Given the description of an element on the screen output the (x, y) to click on. 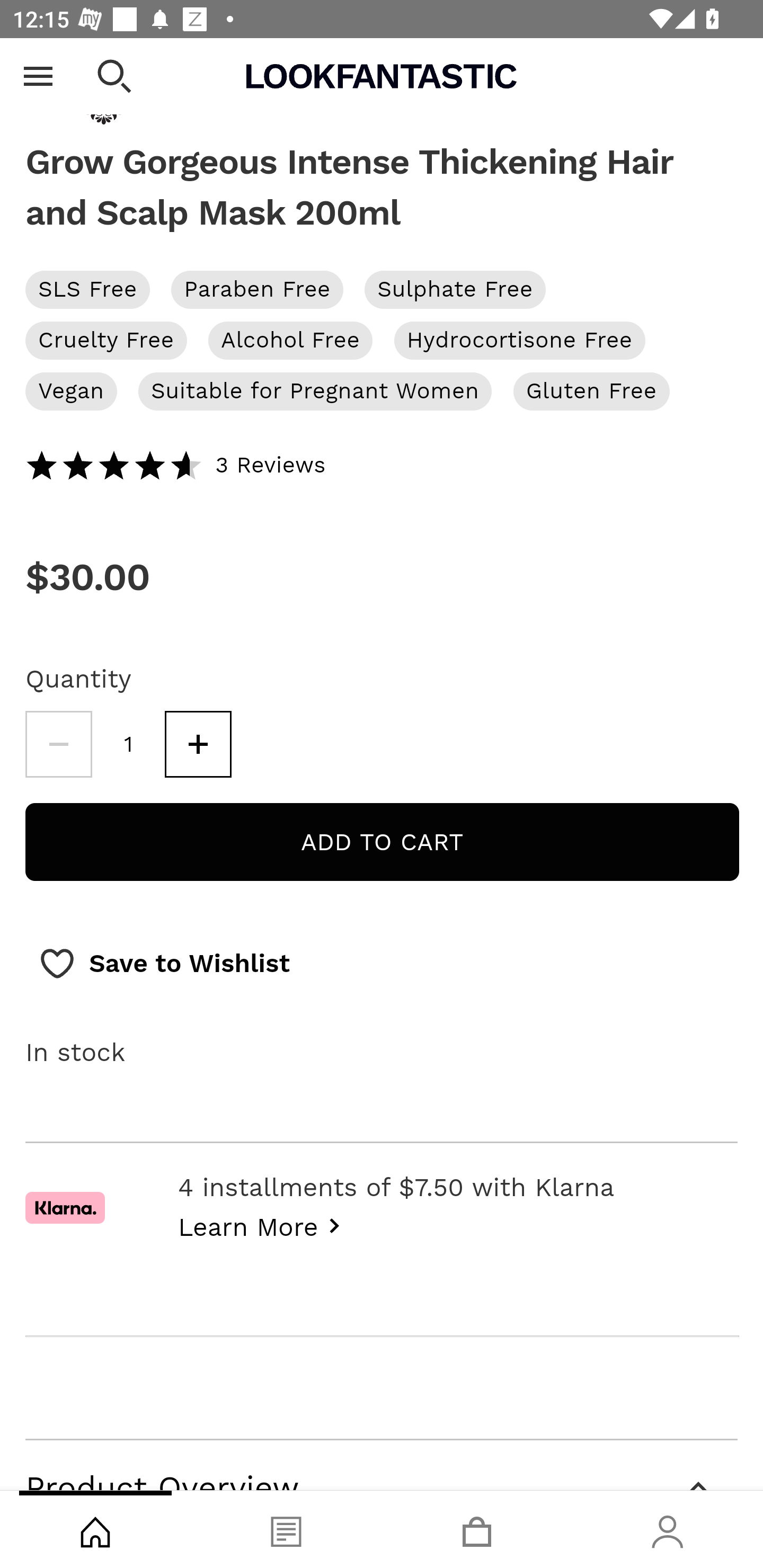
Grow Gorgeous (381, 81)
Decrease quantity (58, 744)
1, Quantity (128, 744)
Increase quantity (197, 744)
Add to cart (382, 841)
Save to Wishlist (164, 963)
Learn More about klarna_slice (263, 1224)
Shop, tab, 1 of 4 (95, 1529)
Blog, tab, 2 of 4 (285, 1529)
Basket, tab, 3 of 4 (476, 1529)
Account, tab, 4 of 4 (667, 1529)
